Given the description of an element on the screen output the (x, y) to click on. 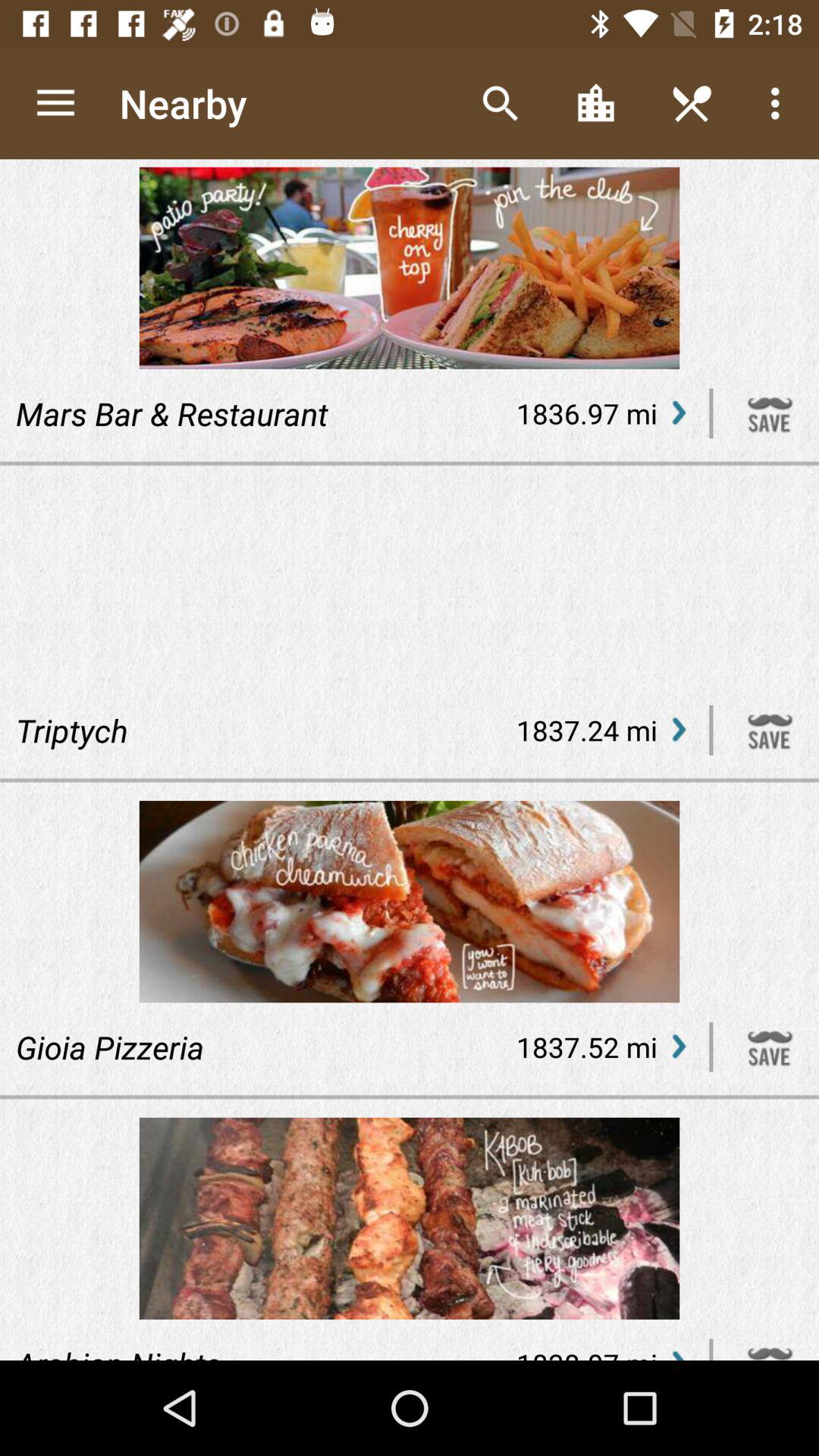
turn off app next to the nearby icon (55, 103)
